Given the description of an element on the screen output the (x, y) to click on. 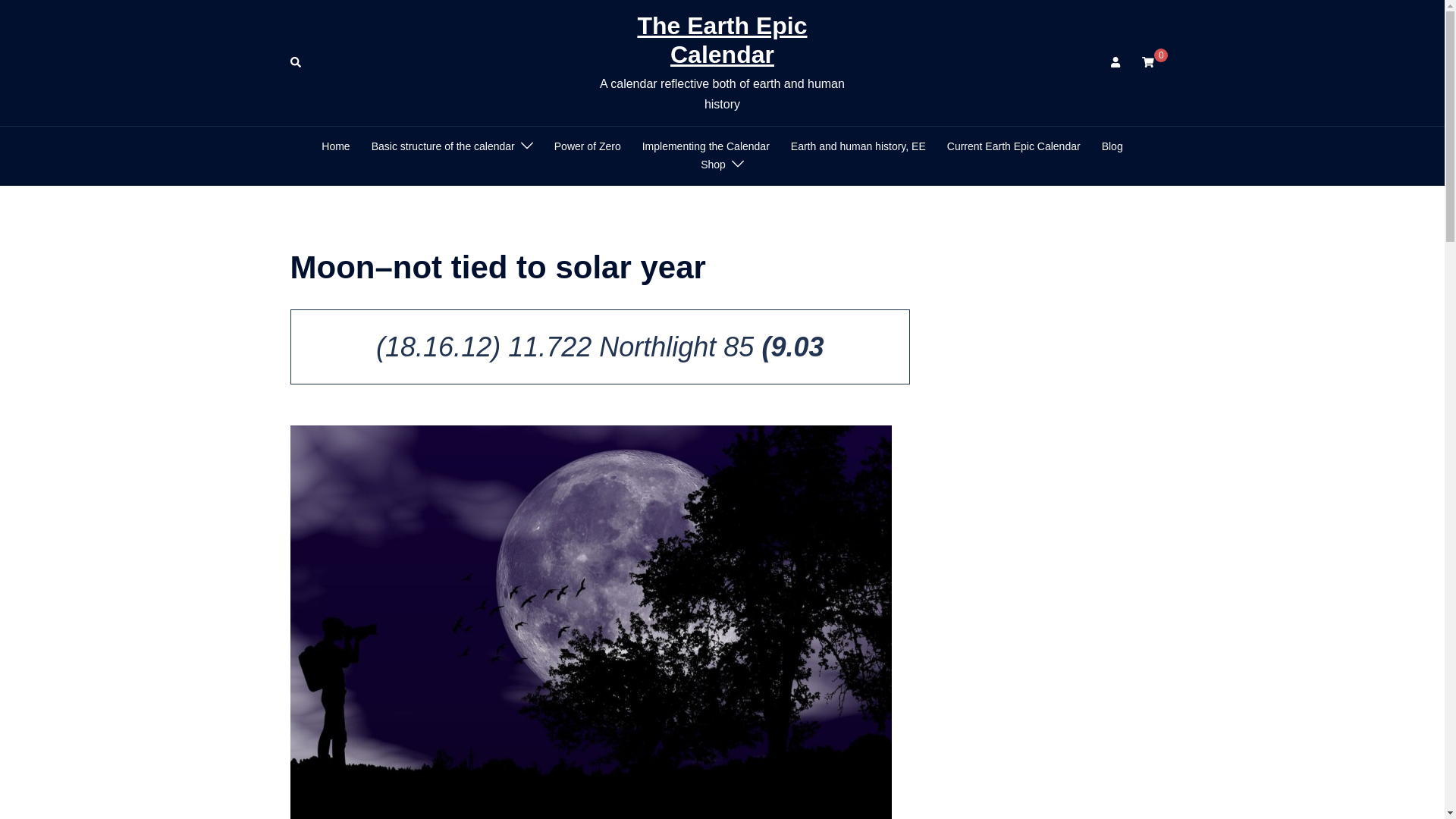
0 (1147, 61)
Power of Zero (587, 147)
Your account (1116, 62)
Implementing the Calendar (706, 147)
Earth and human history, EE (858, 147)
The Earth Epic Calendar (721, 39)
Current Earth Epic Calendar (1013, 147)
Search (295, 62)
Basic structure of the calendar (443, 147)
Home (335, 147)
Blog (1112, 147)
Shop (712, 165)
